Given the description of an element on the screen output the (x, y) to click on. 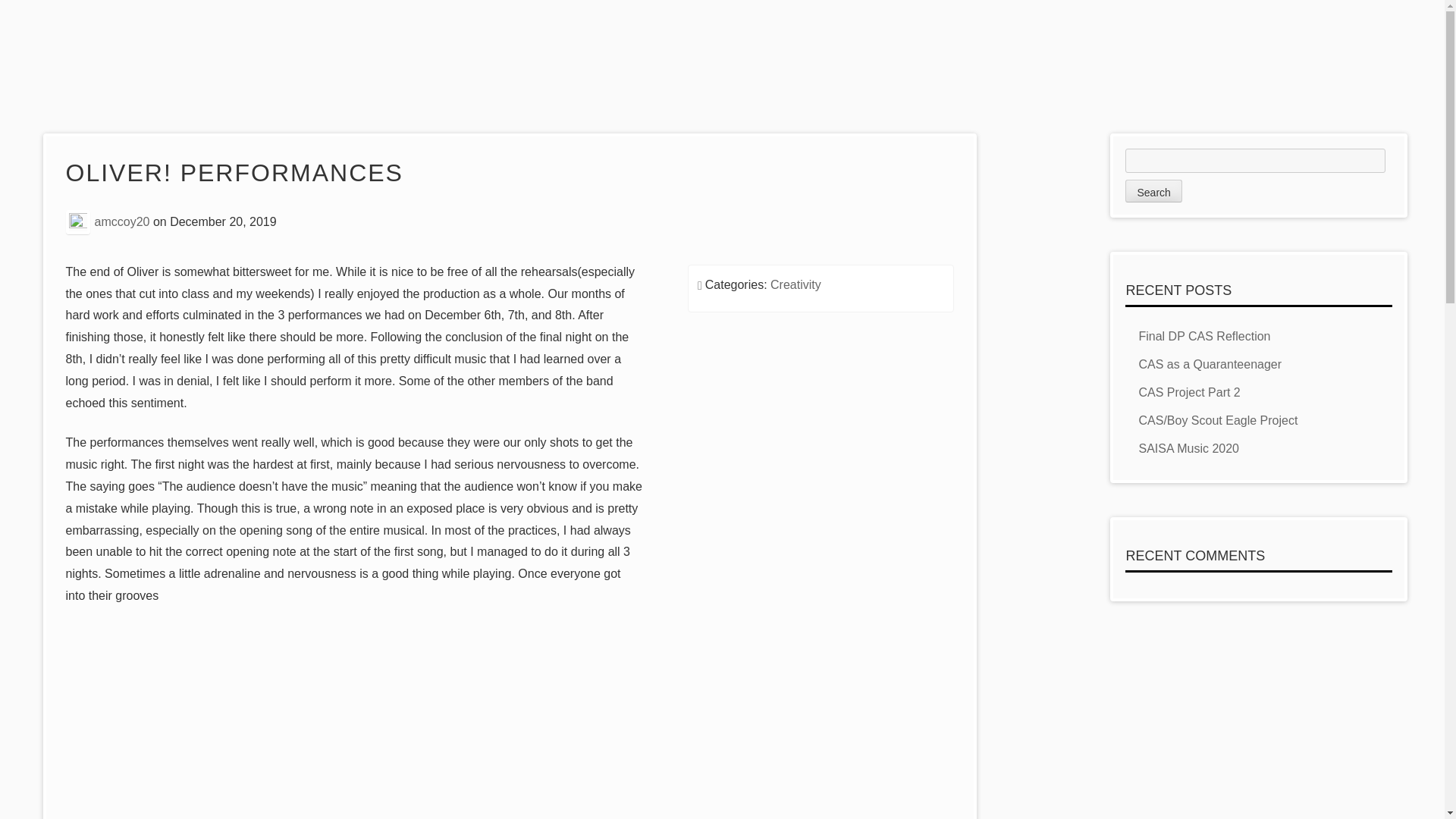
Final DP CAS Reflection (1203, 336)
CAS as a Quaranteenager (1209, 364)
Oliver! - Senior Production 2019 Recap (308, 762)
Creativity (795, 284)
amccoy20 (121, 220)
Search (1152, 190)
Search (1152, 190)
Search (1152, 190)
CAS Project Part 2 (1189, 391)
SAISA Music 2020 (1188, 448)
